Given the description of an element on the screen output the (x, y) to click on. 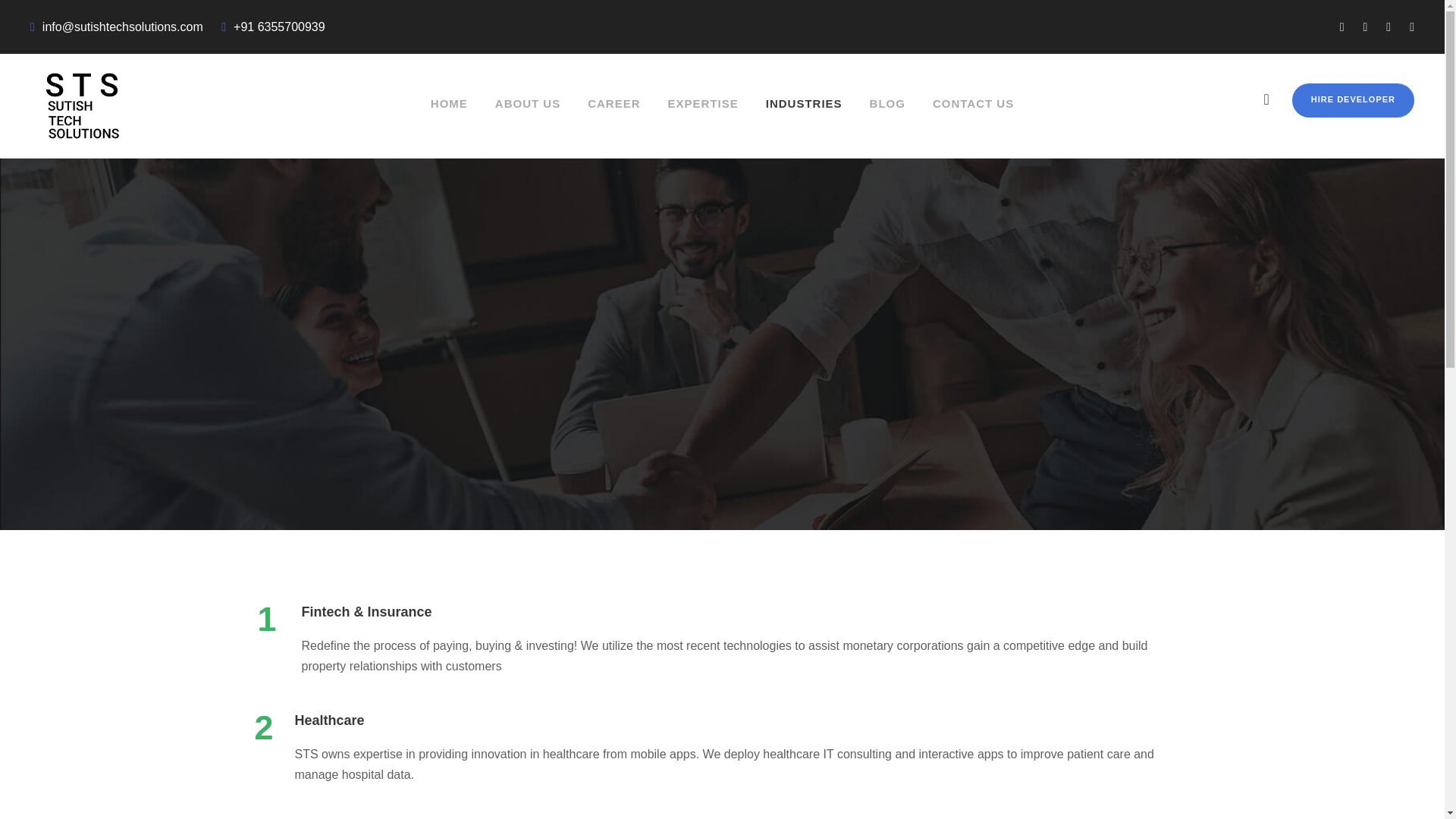
CONTACT US (973, 122)
ABOUT US (527, 122)
HIRE DEVELOPER (1352, 100)
CAREER (614, 122)
INDUSTRIES (804, 122)
EXPERTISE (703, 122)
